Given the description of an element on the screen output the (x, y) to click on. 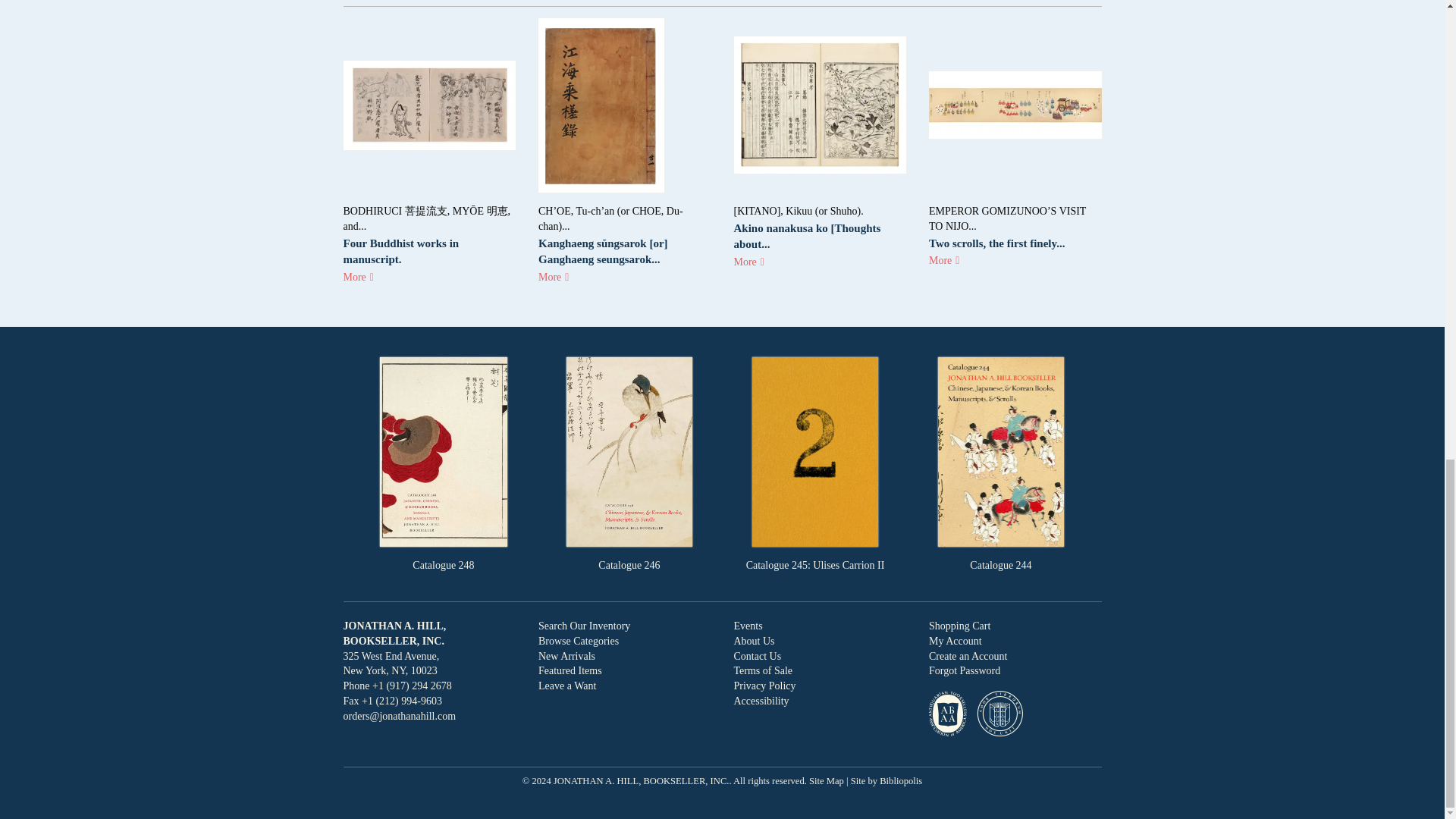
Four Buddhist works in manuscript. (400, 251)
Site by Bibliopolis (885, 780)
